Given the description of an element on the screen output the (x, y) to click on. 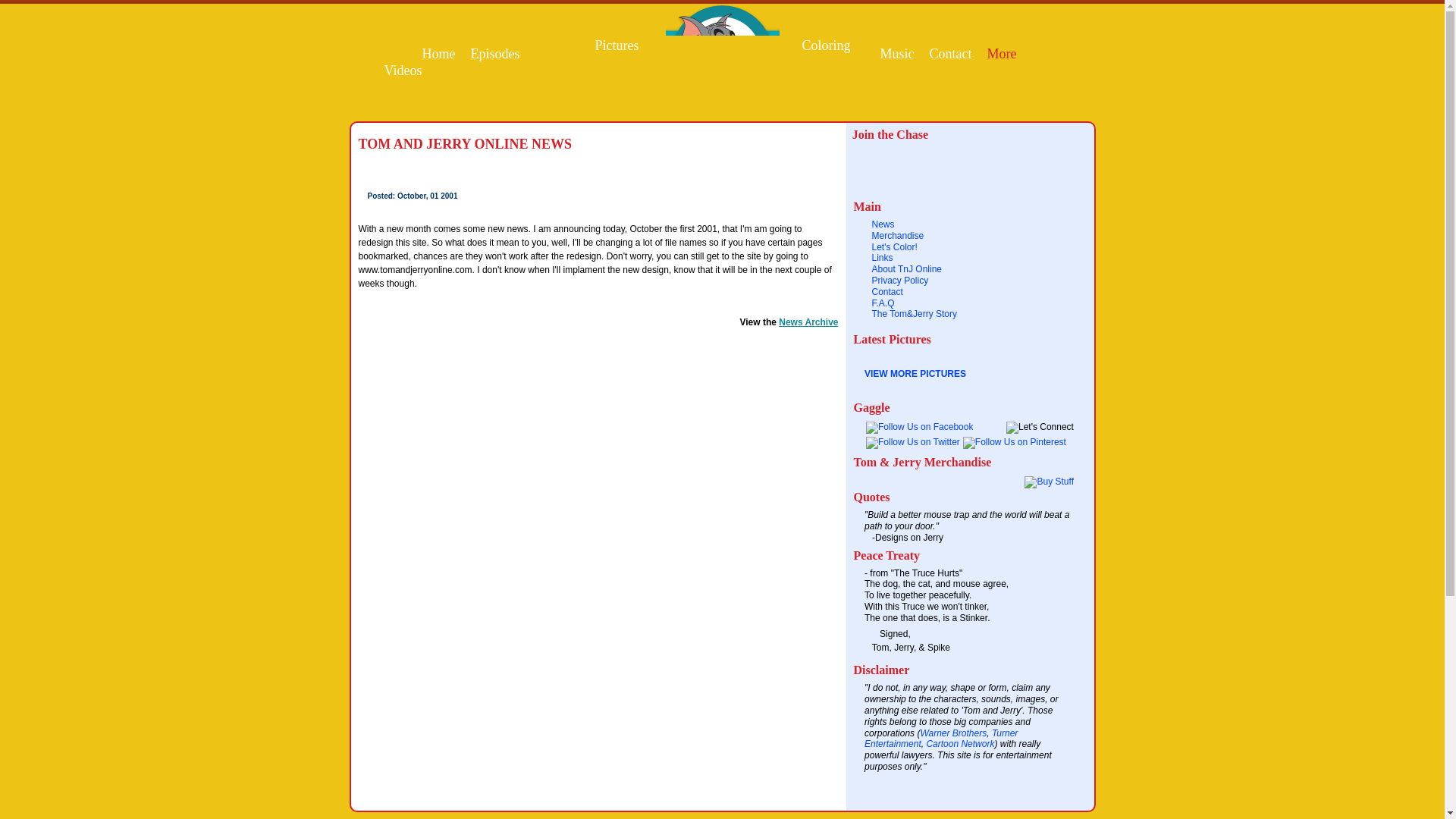
Follow Us on Facebook (919, 426)
Follow us on Twitter (912, 441)
VIEW MORE PICTURES (915, 373)
Tom and Jerry Online (721, 112)
Follow us on Pinterest (1013, 441)
